Given the description of an element on the screen output the (x, y) to click on. 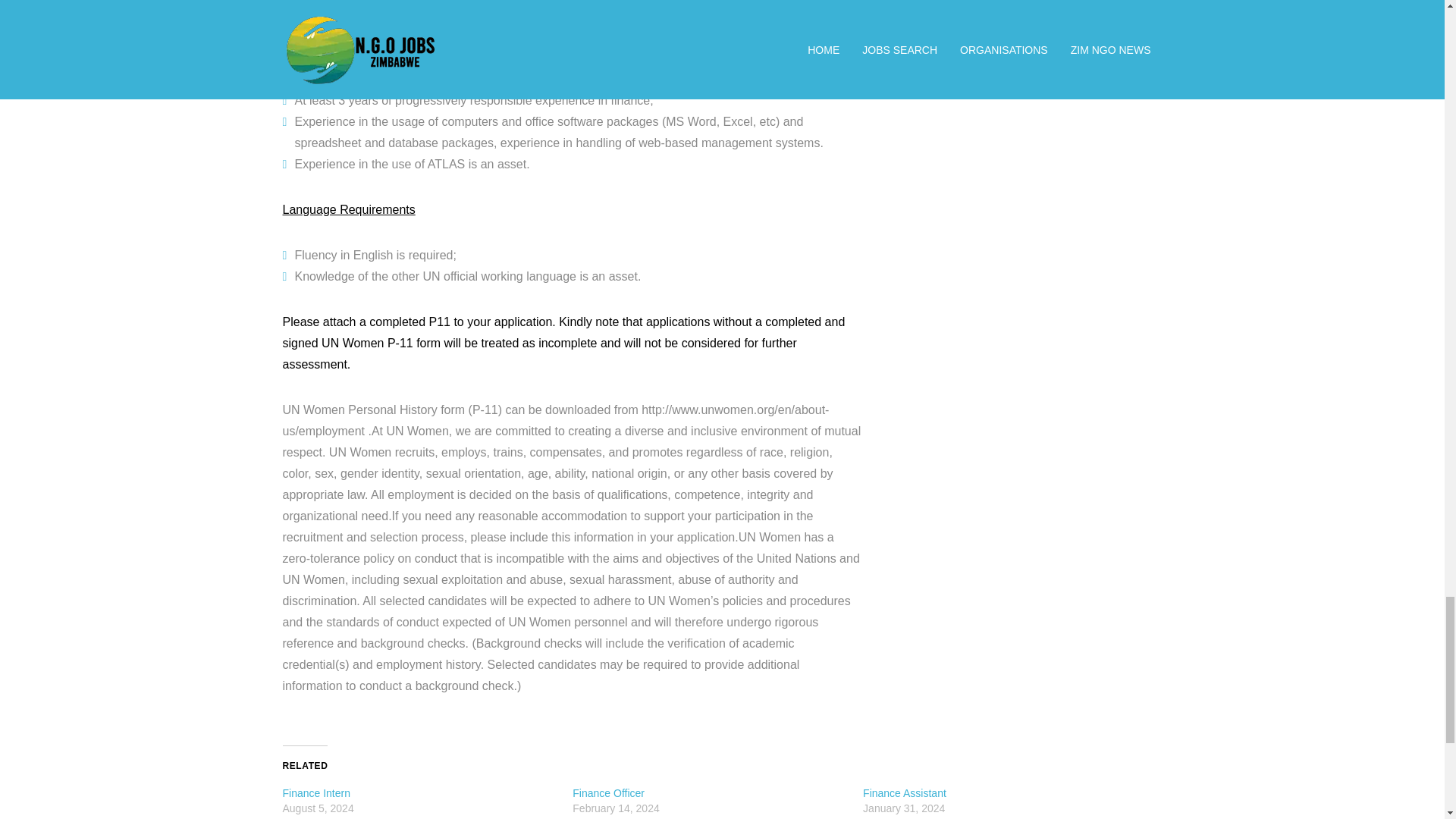
Finance Officer (608, 793)
Finance Intern (316, 793)
Finance Officer (608, 793)
Finance Assistant (904, 793)
Finance Intern (316, 793)
Finance Assistant (904, 793)
